Given the description of an element on the screen output the (x, y) to click on. 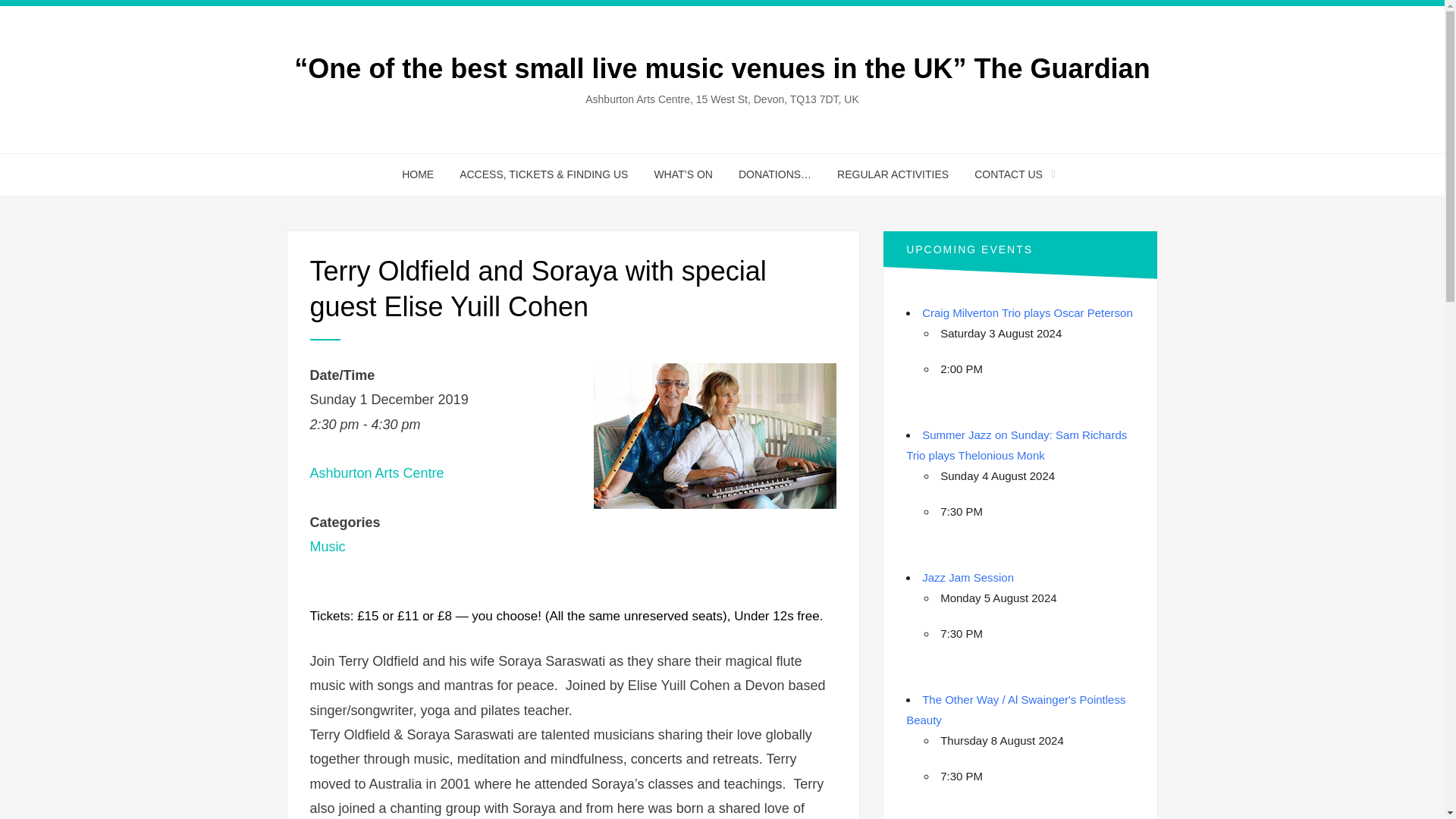
REGULAR ACTIVITIES (892, 174)
Music (326, 546)
Ashburton Arts Centre (376, 473)
Craig Milverton Trio plays Oscar Peterson (1026, 312)
CONTACT US (1007, 174)
Jazz Jam Session (967, 576)
HOME (417, 174)
